Given the description of an element on the screen output the (x, y) to click on. 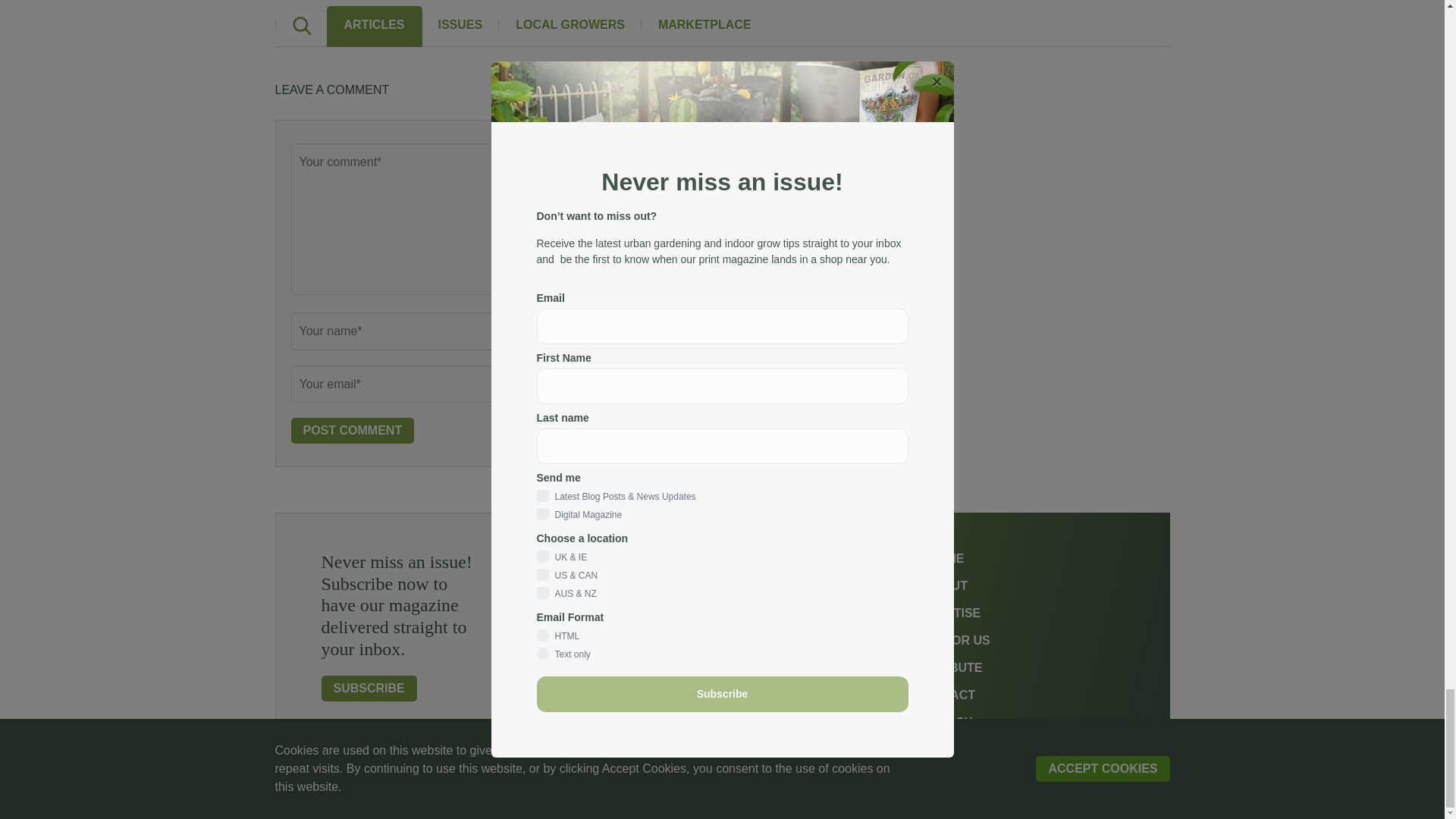
Post Comment (352, 430)
